Given the description of an element on the screen output the (x, y) to click on. 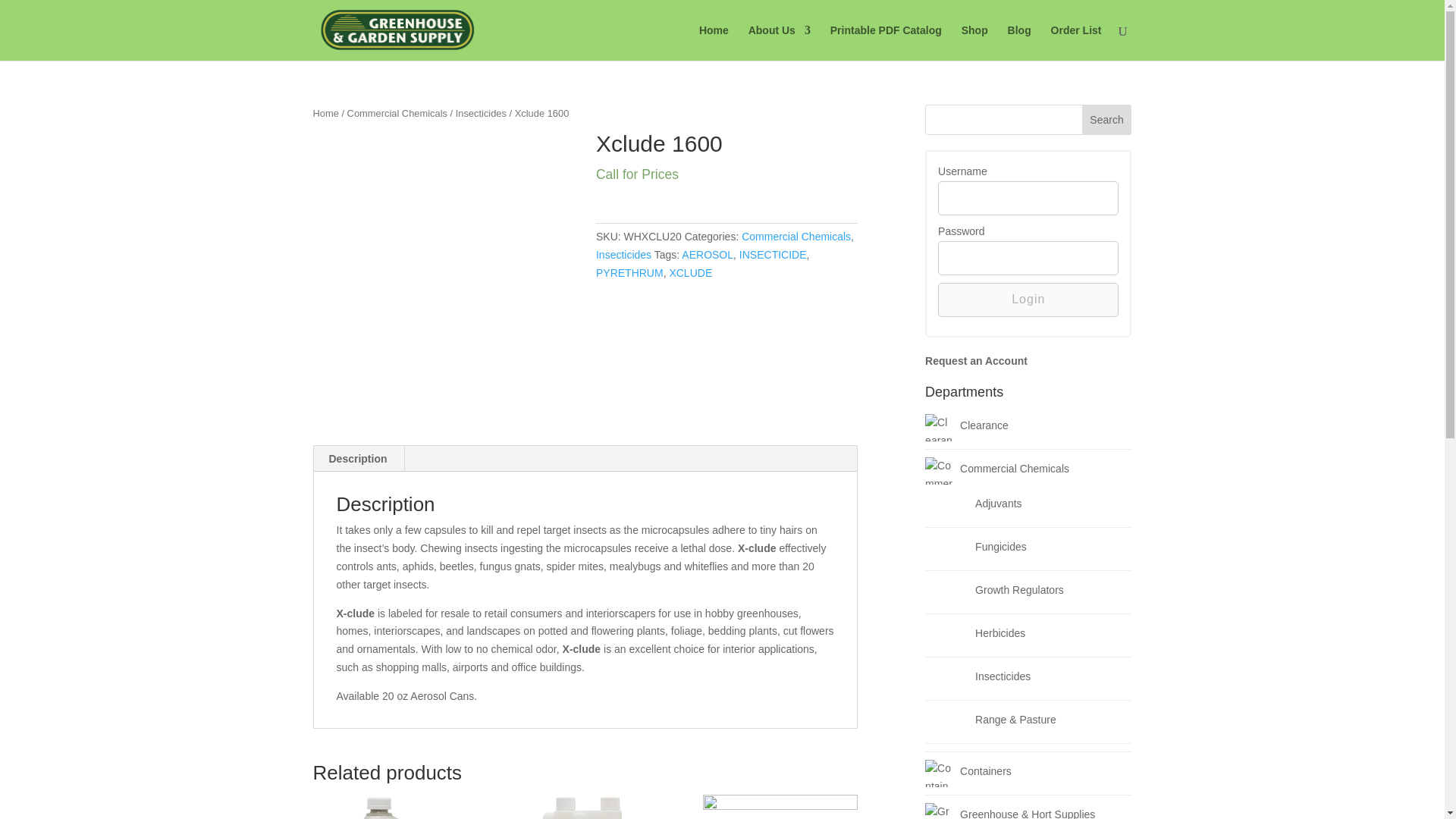
Fungicides (954, 548)
Growth Regulators (954, 592)
Home (325, 112)
Clearance (938, 427)
Please enter password (1027, 257)
Commercial Chemicals (390, 806)
INSECTICIDE (780, 806)
Commercial Chemicals (795, 236)
Commercial Chemicals (772, 254)
PYRETHRUM (938, 470)
Order List (396, 112)
Insecticides (629, 272)
XCLUDE (1076, 42)
